Given the description of an element on the screen output the (x, y) to click on. 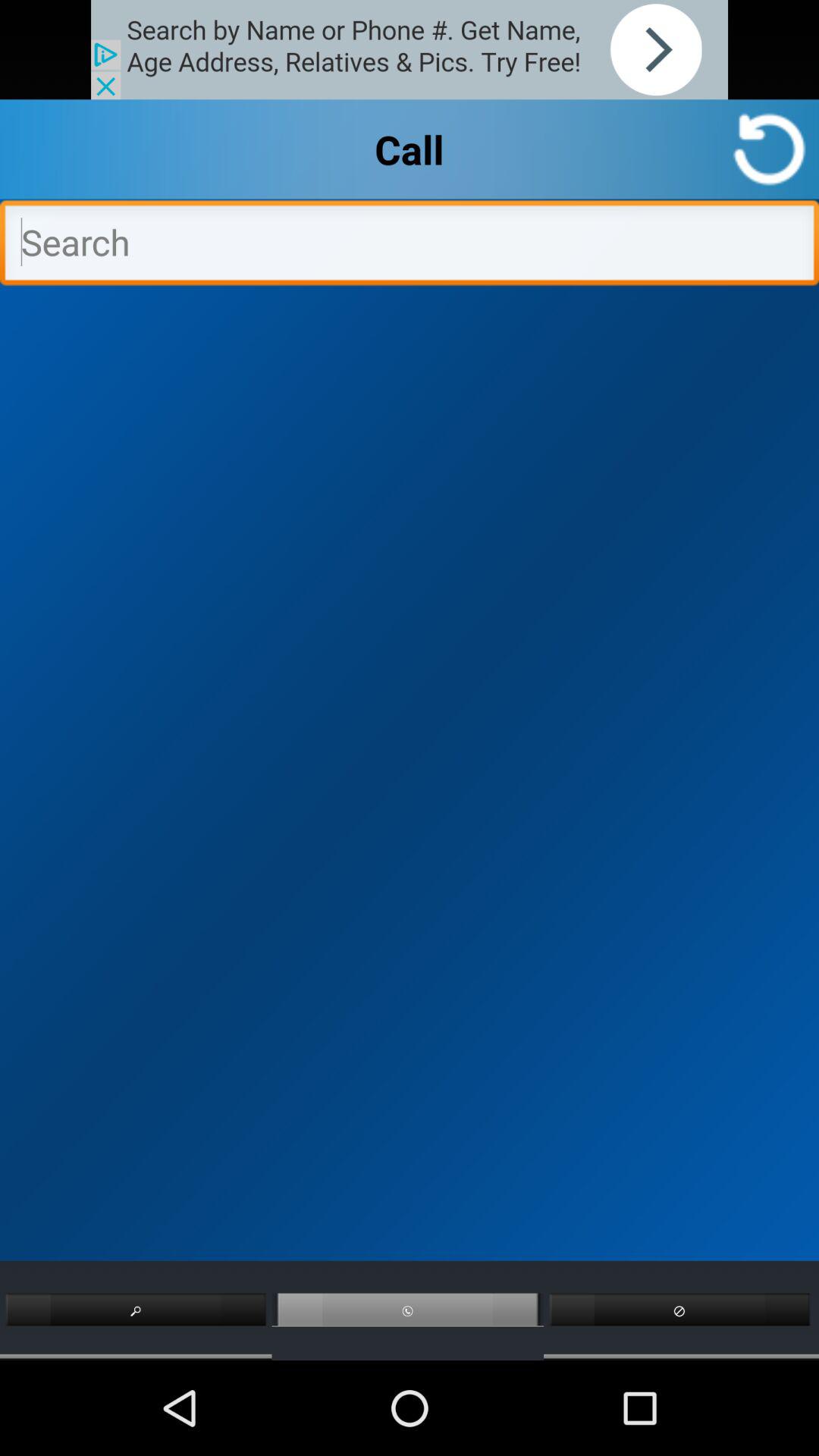
advertisement (409, 49)
